Given the description of an element on the screen output the (x, y) to click on. 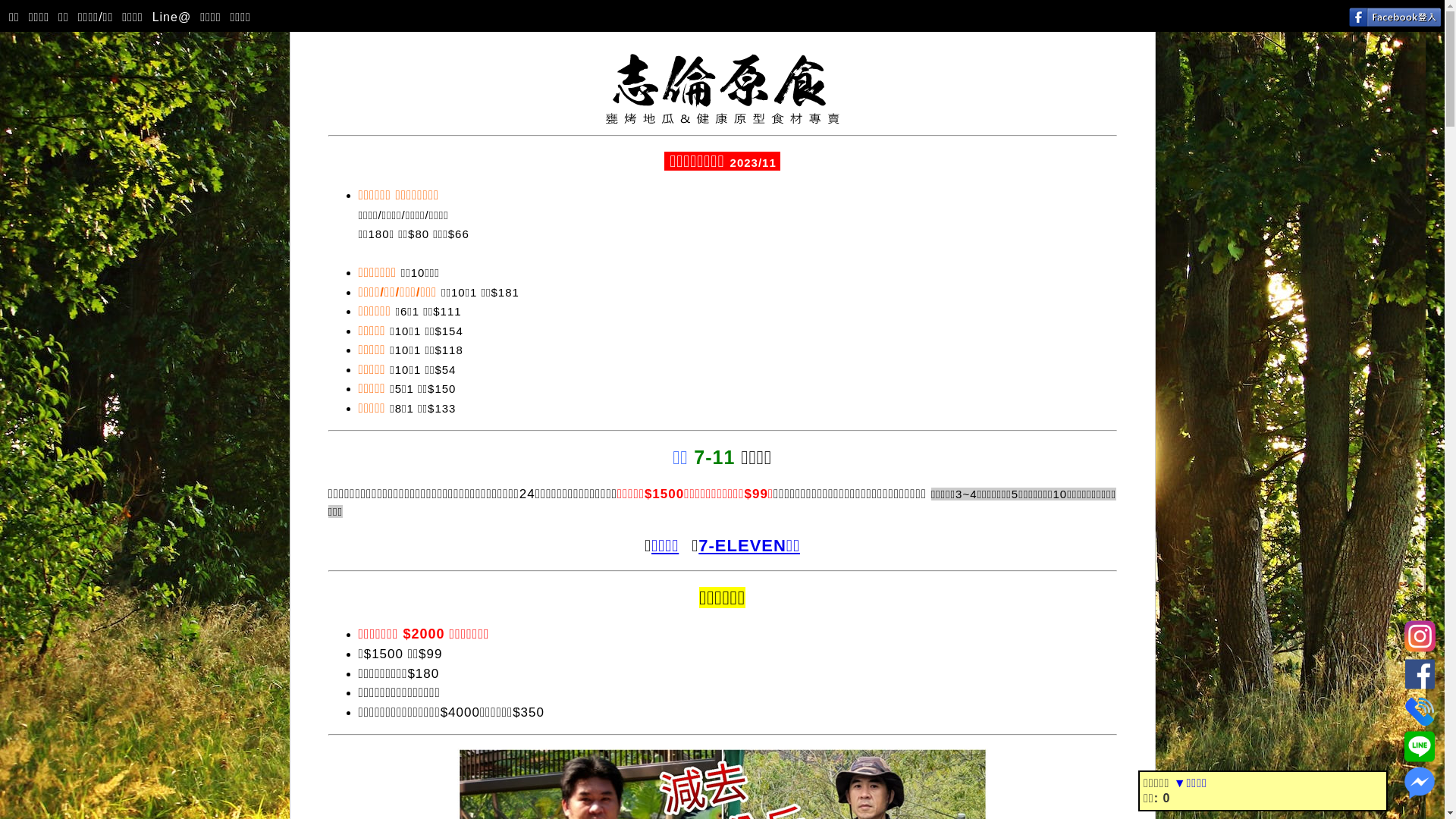
Facebook Element type: hover (1419, 671)
LINE@ Element type: hover (1419, 743)
Line@ Element type: text (170, 17)
instagram Element type: hover (1419, 633)
